Given the description of an element on the screen output the (x, y) to click on. 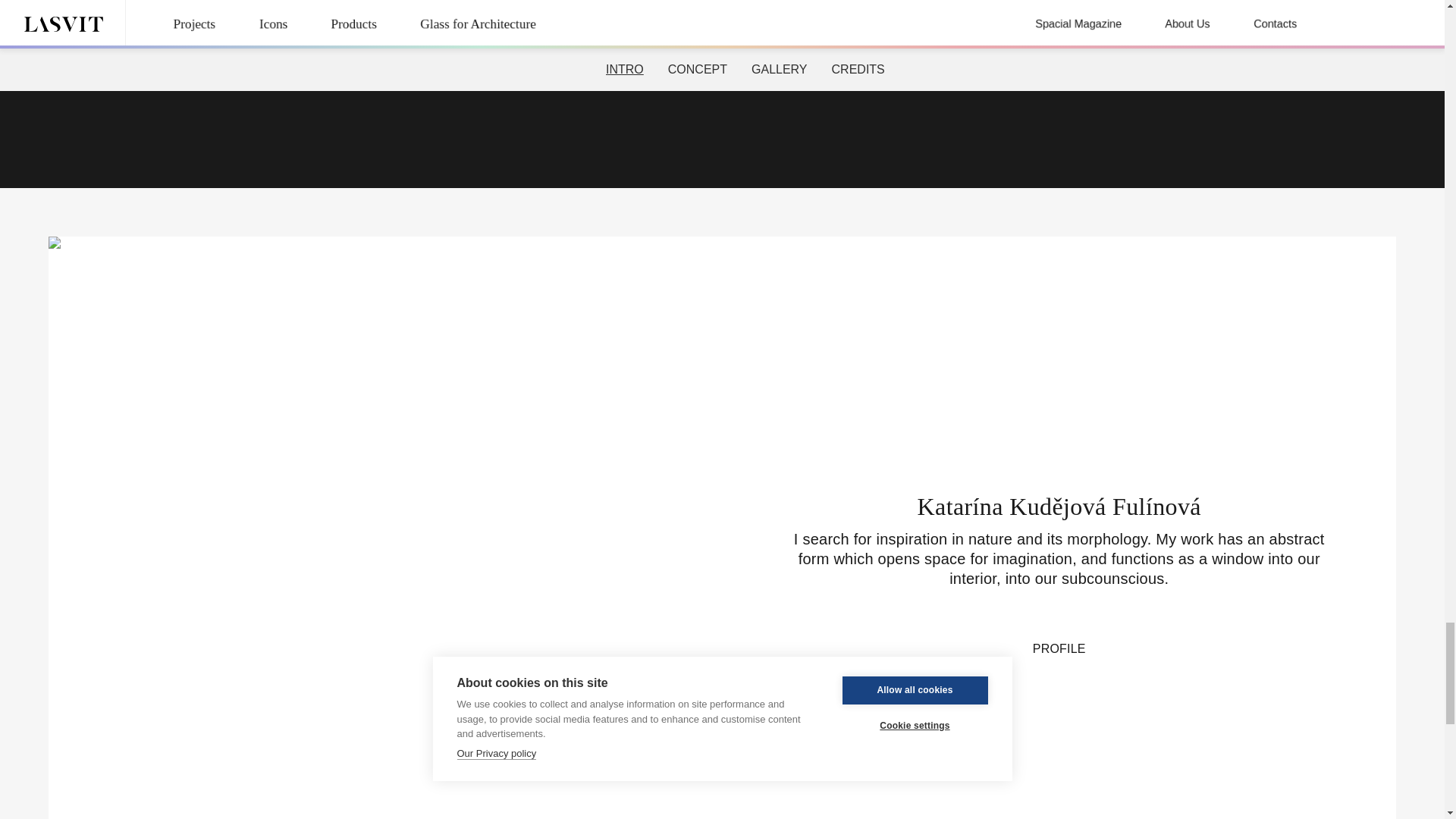
PROFILE (1058, 649)
